Given the description of an element on the screen output the (x, y) to click on. 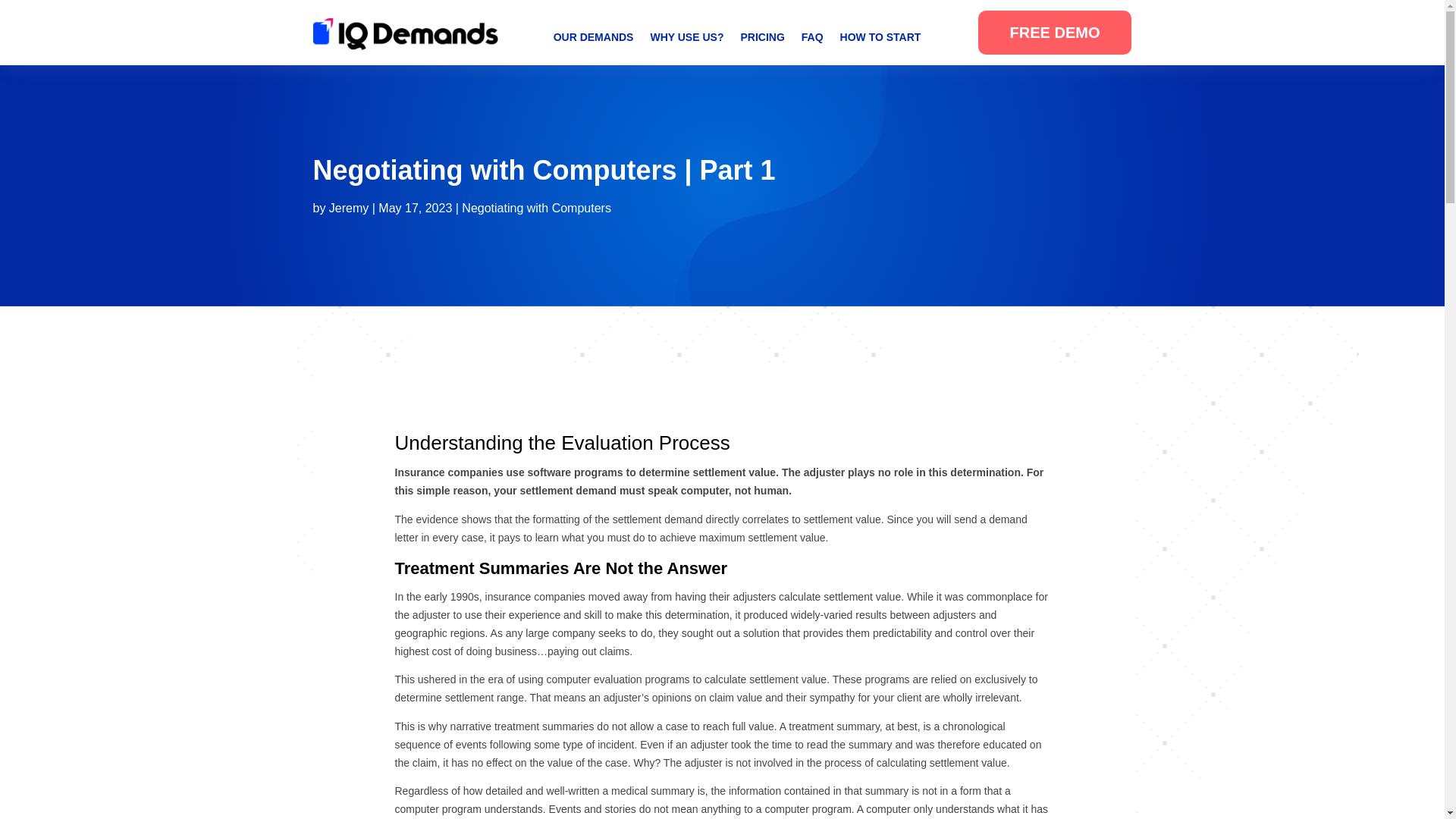
PRICING (761, 39)
Negotiating with Computers (536, 207)
HOW TO START (880, 39)
Posts by Jeremy (348, 207)
FAQ (813, 39)
OUR DEMANDS (593, 39)
IQ Demands (406, 35)
WHY USE US? (686, 39)
Jeremy (348, 207)
FREE DEMO (1055, 32)
